Given the description of an element on the screen output the (x, y) to click on. 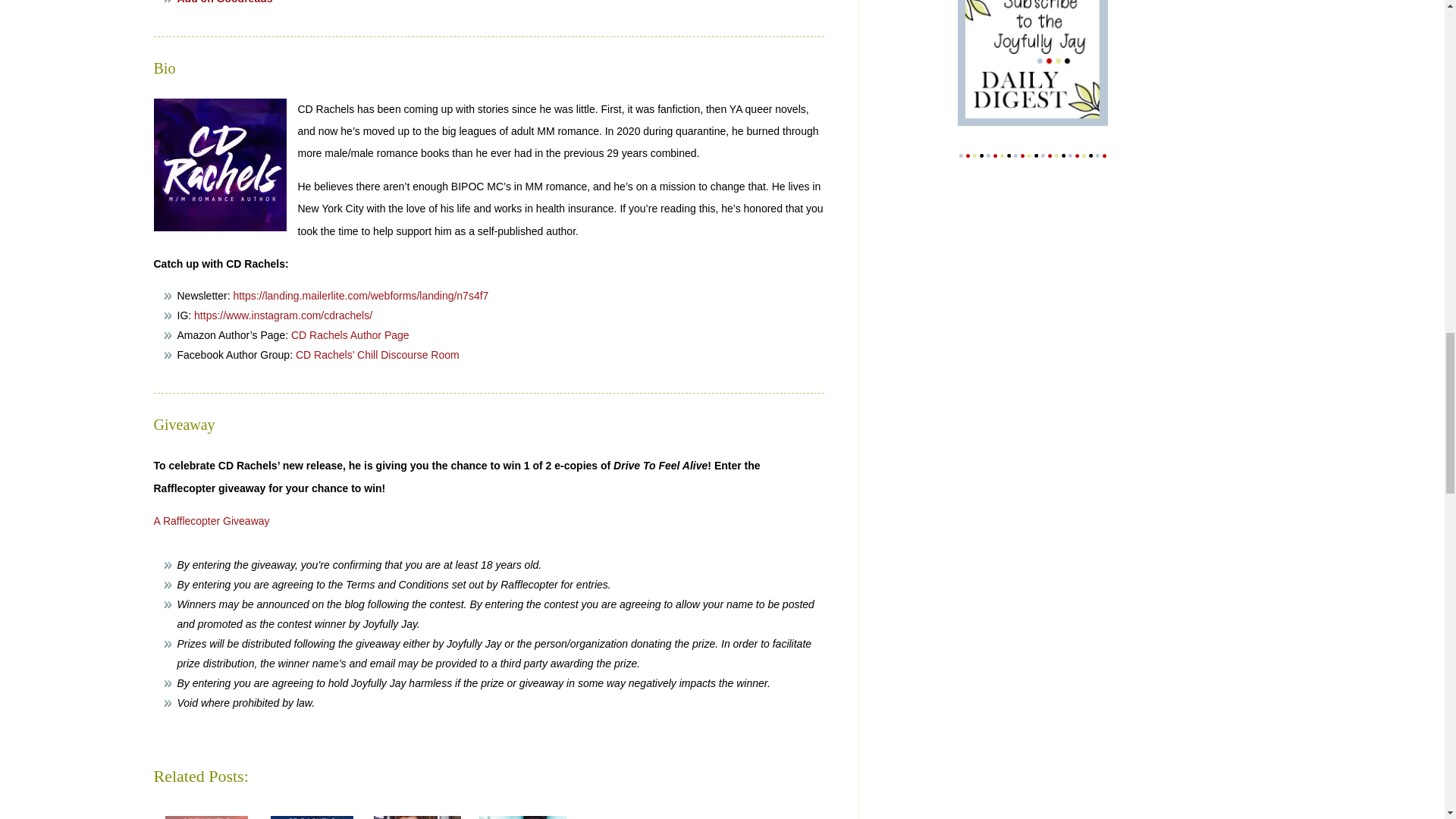
Excerpt and Giveaway: Drive Back to You by C.D. Rachels (310, 817)
Excerpt and Giveaway: The Lines We Draw by CD Rachels (522, 817)
Guest Post and Giveaway: The Strings We Play by C.D. Rachels (416, 817)
Excerpt and Giveaway: Drive to Thrive by C.D. Rachels (206, 817)
